Given the description of an element on the screen output the (x, y) to click on. 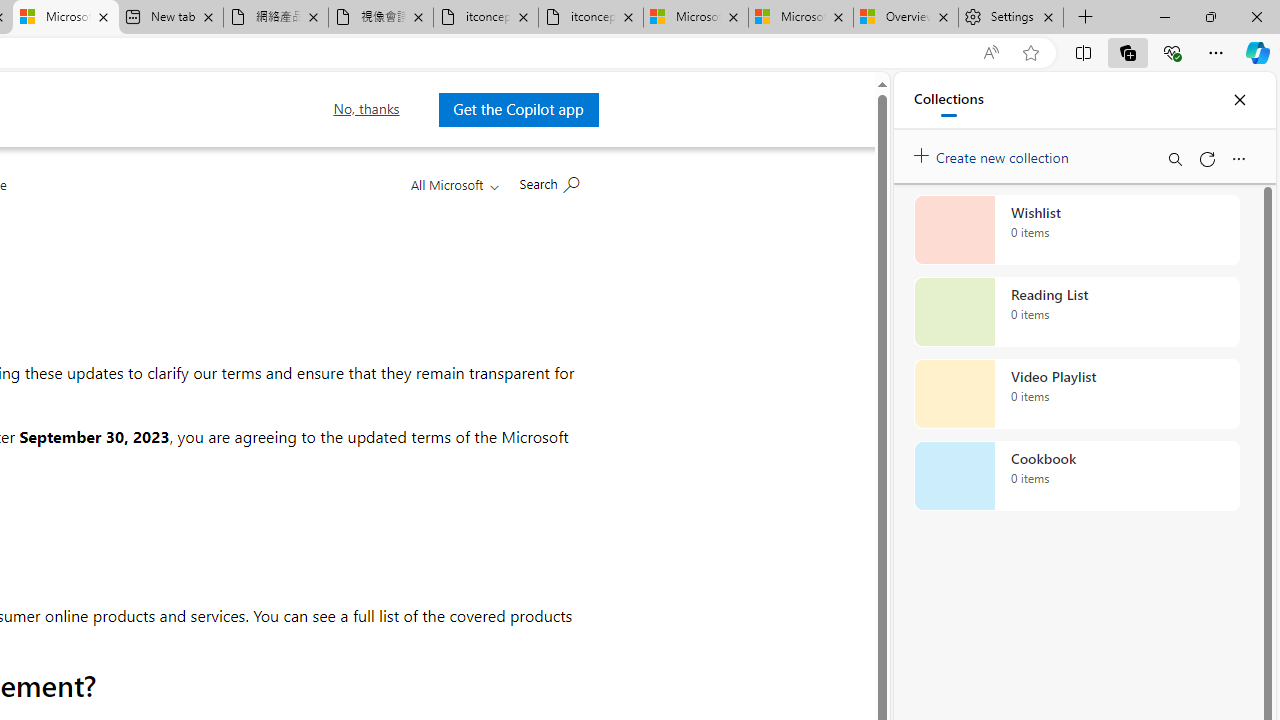
Wishlist collection, 0 items (1076, 229)
Video Playlist collection, 0 items (1076, 394)
Search Microsoft.com (548, 182)
Create new collection (994, 153)
